Given the description of an element on the screen output the (x, y) to click on. 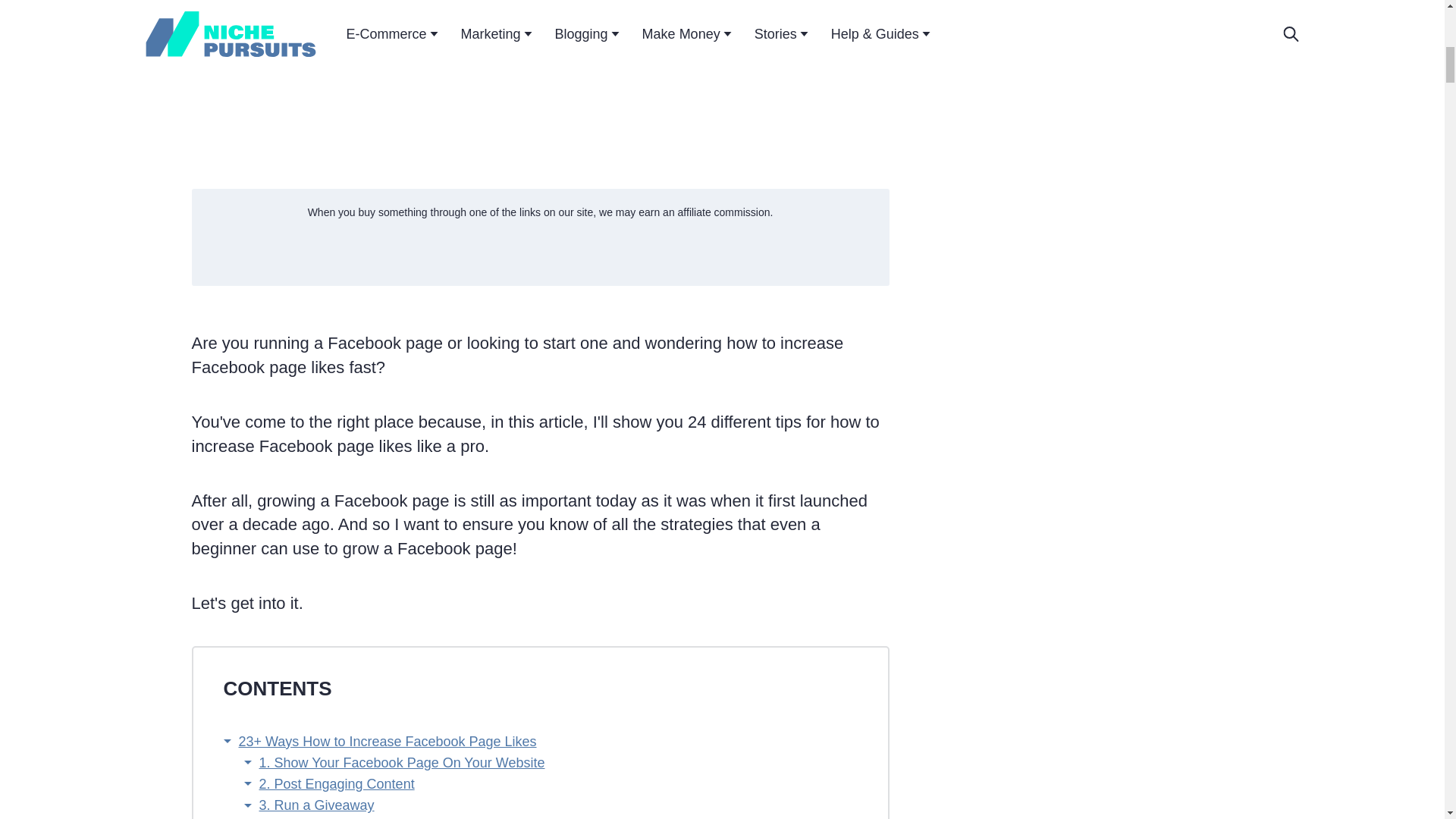
3. Run a Giveaway (316, 805)
1. Show Your Facebook Page On Your Website (401, 762)
2. Post Engaging Content (336, 783)
